Given the description of an element on the screen output the (x, y) to click on. 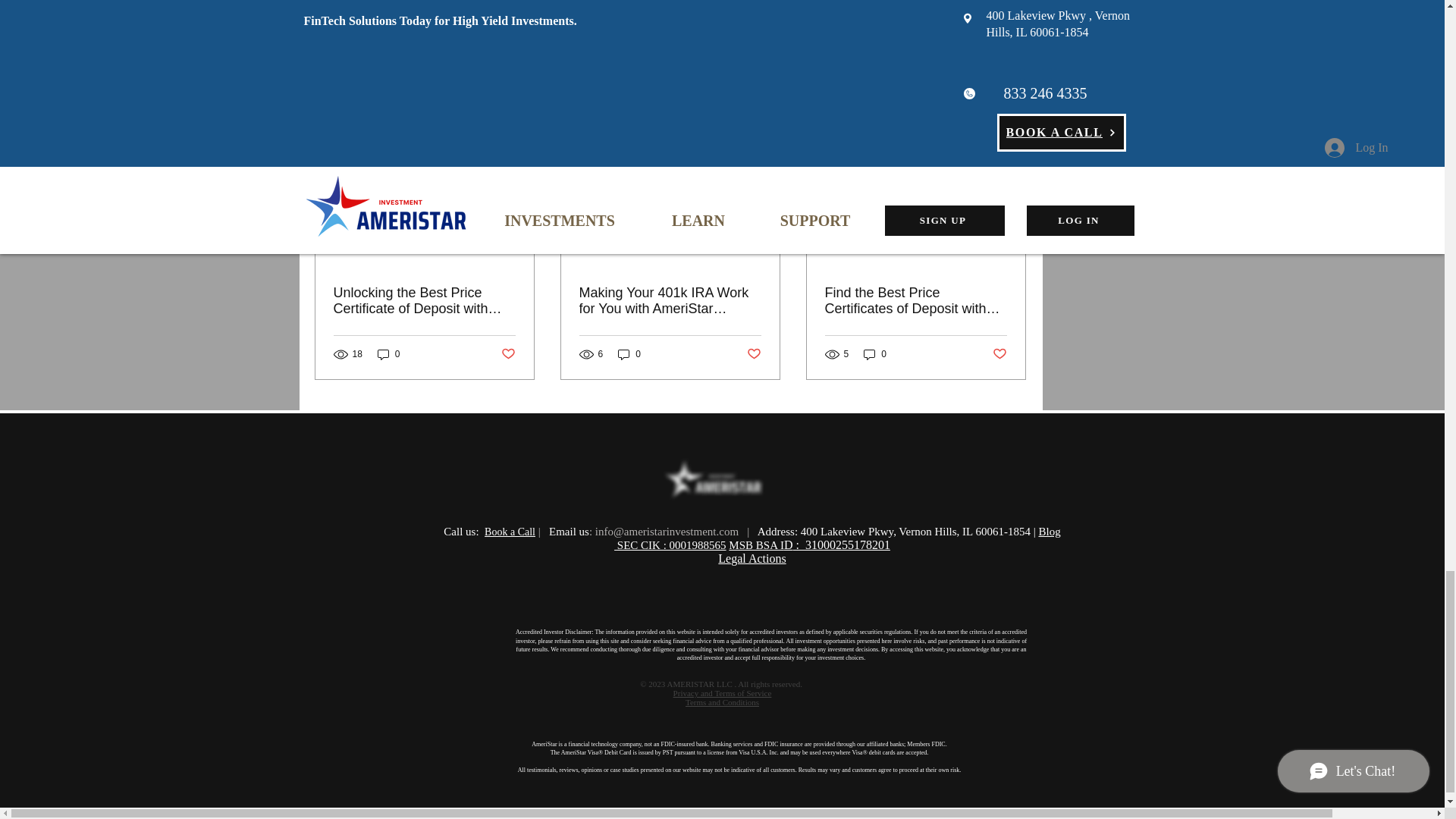
Post not marked as liked (507, 354)
0 (388, 354)
See All (1010, 116)
Post not marked as liked (944, 34)
